Given the description of an element on the screen output the (x, y) to click on. 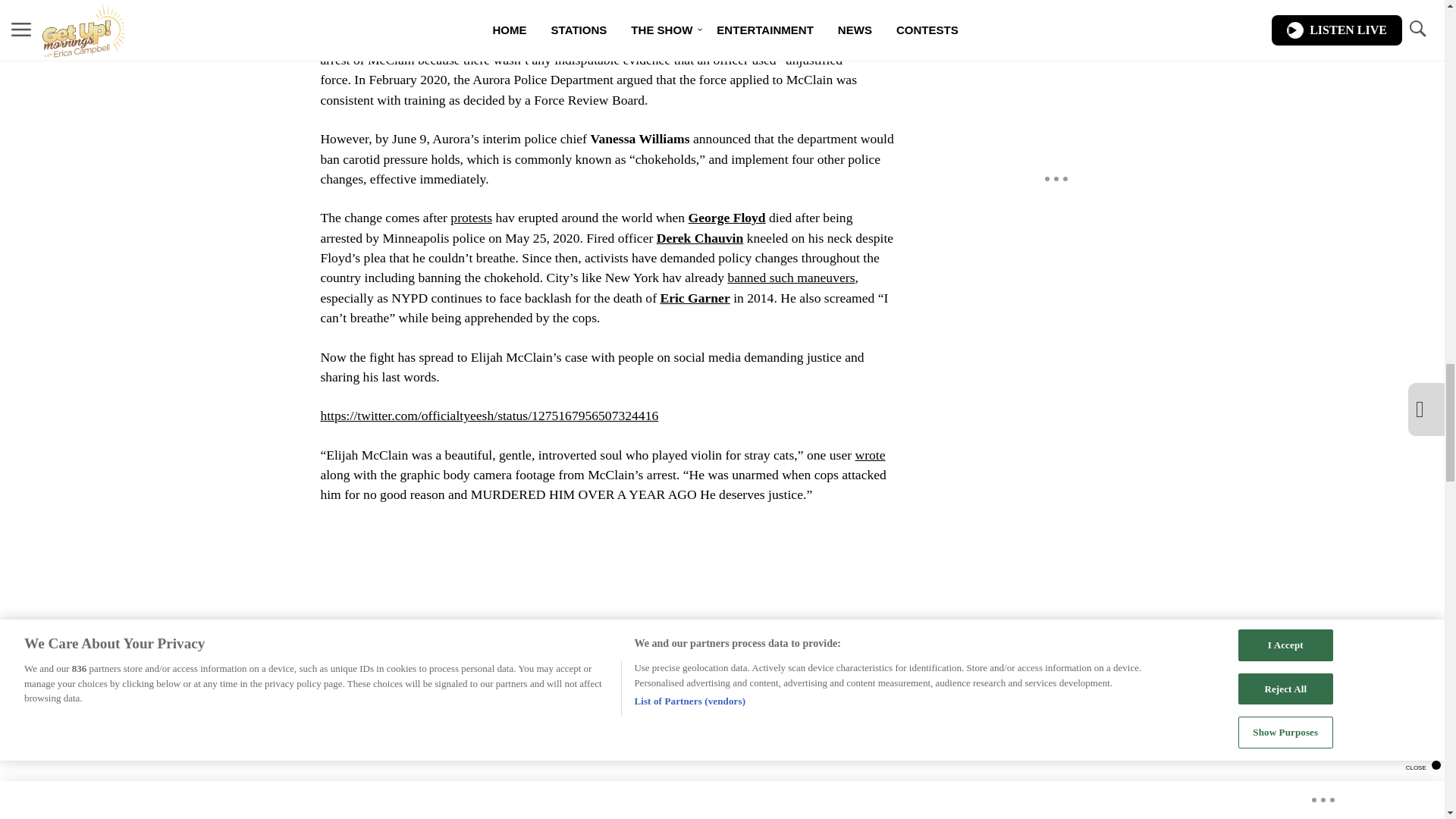
Eric Garner (694, 297)
Derek Chauvin (700, 237)
banned such maneuvers (790, 277)
George Floyd (726, 217)
protests (470, 217)
